Given the description of an element on the screen output the (x, y) to click on. 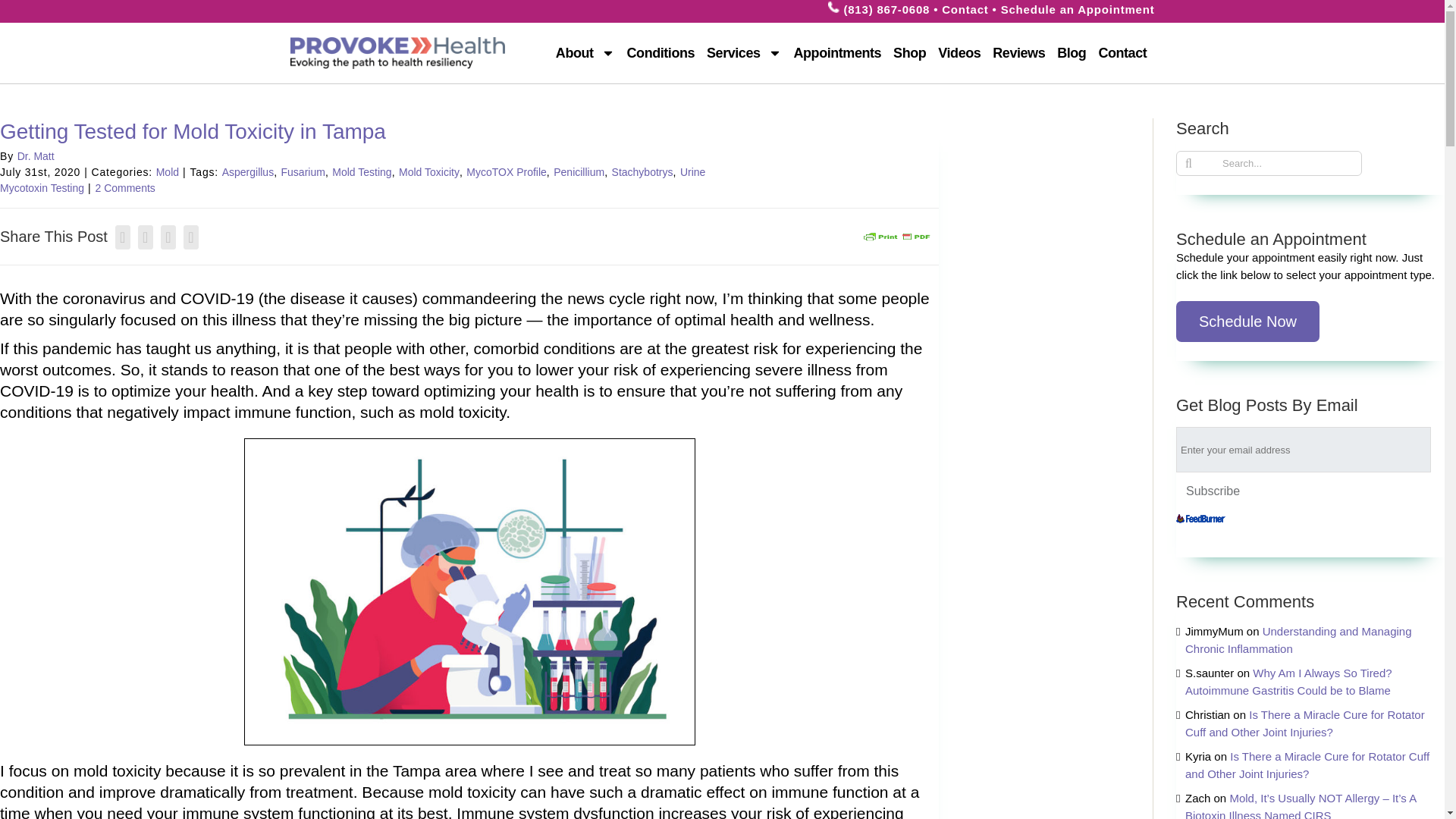
Contact (1122, 52)
About (585, 52)
Shop (909, 52)
Enter your email address (1303, 449)
Conditions (660, 52)
Appointments (837, 52)
Blog (1071, 52)
Services (743, 52)
Reviews (1018, 52)
Videos (959, 52)
Schedule an Appointment (1077, 9)
Enter your email address (1303, 449)
Contact (965, 9)
Posts by Dr. Matt (36, 155)
